Given the description of an element on the screen output the (x, y) to click on. 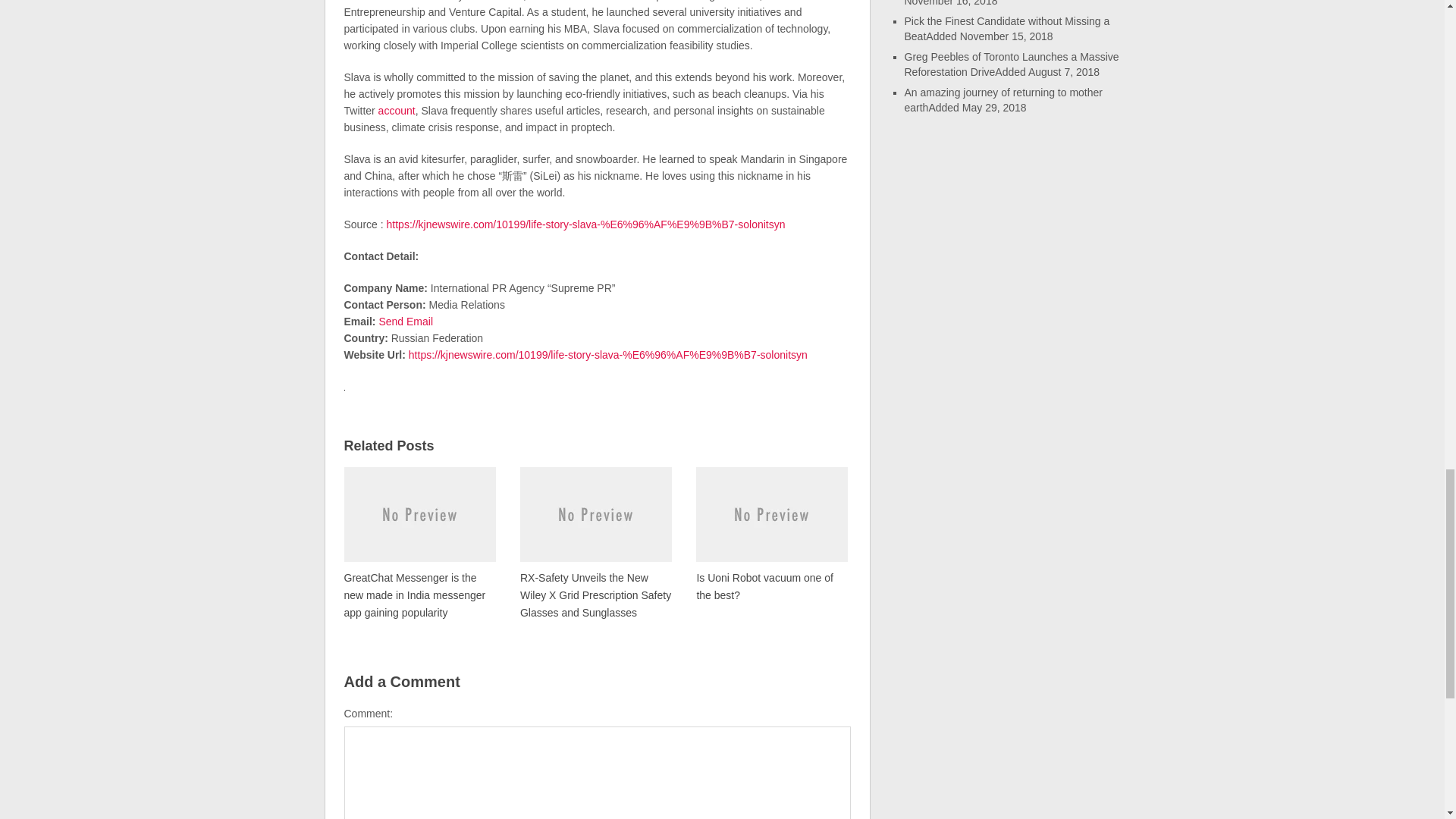
account (394, 110)
Is Uoni Robot vacuum one of the best? (771, 533)
Send Email (405, 321)
Is Uoni Robot vacuum one of the best? (771, 533)
